Given the description of an element on the screen output the (x, y) to click on. 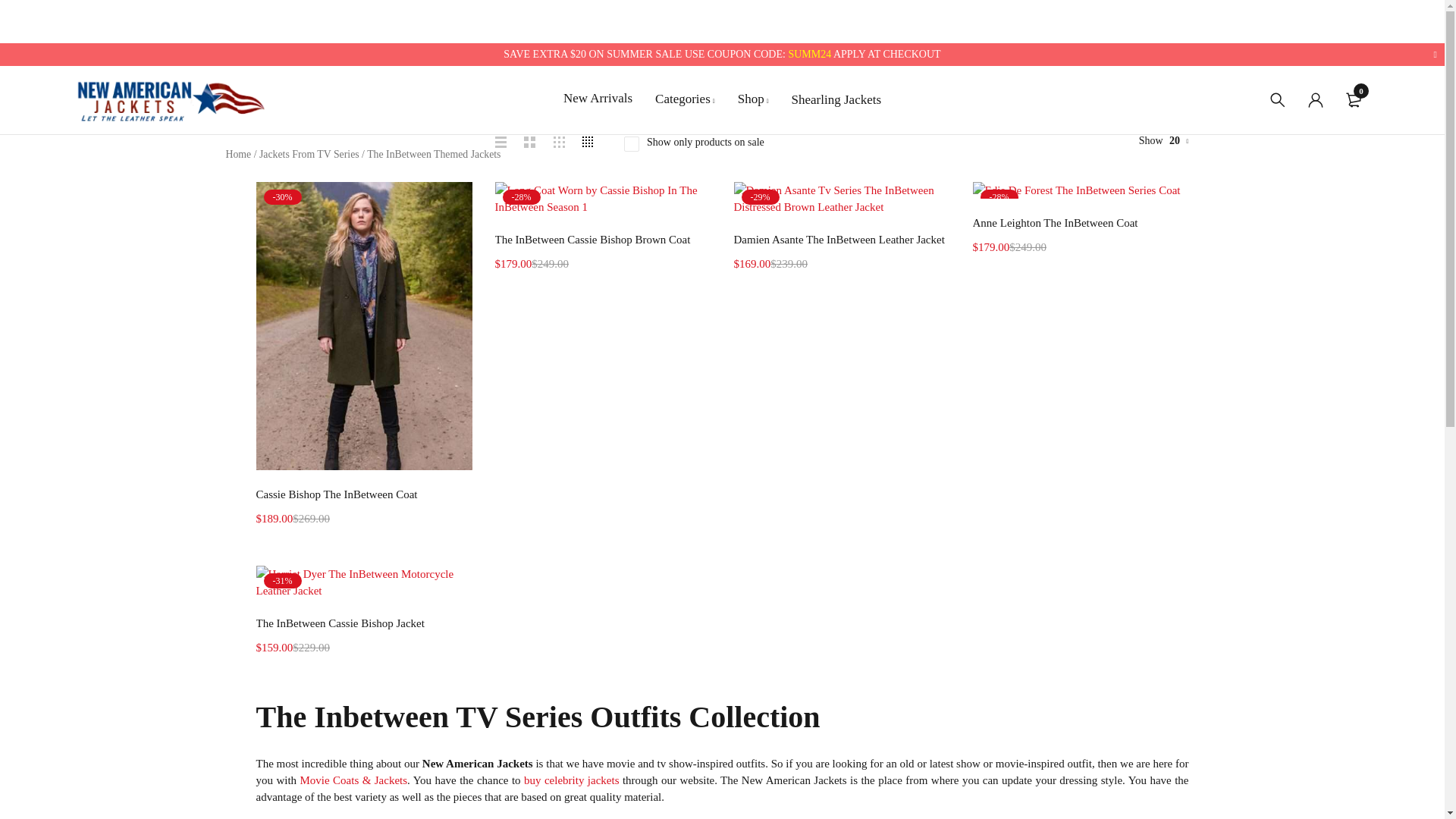
Yobazar (169, 99)
